Given the description of an element on the screen output the (x, y) to click on. 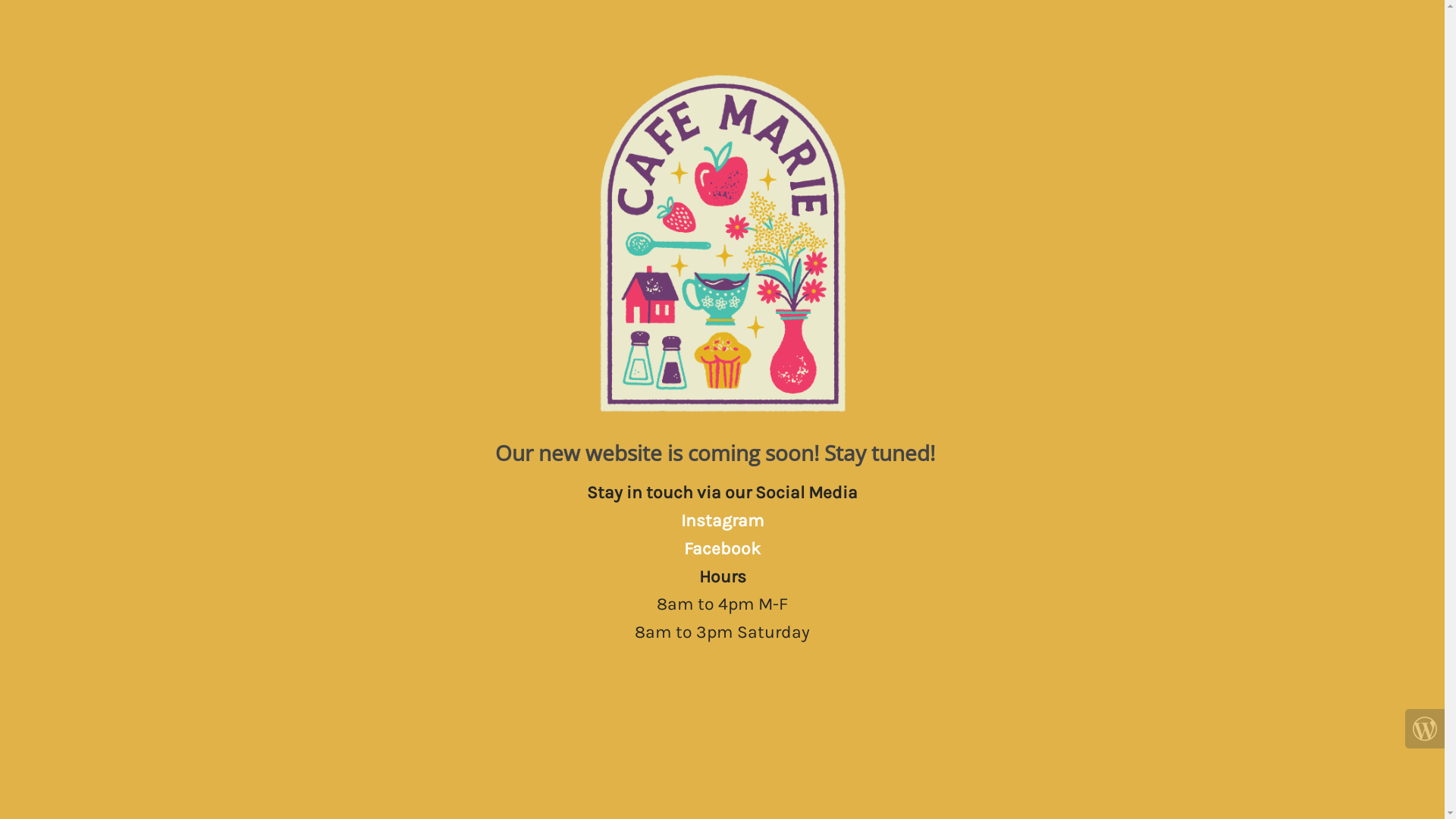
Instagram Element type: text (722, 520)
Log in to WordPress admin Element type: hover (1424, 728)
Facebook Element type: text (722, 548)
A Better Bite Community Kitchen Element type: hover (722, 243)
Log in to WordPress admin Element type: hover (1424, 728)
